Given the description of an element on the screen output the (x, y) to click on. 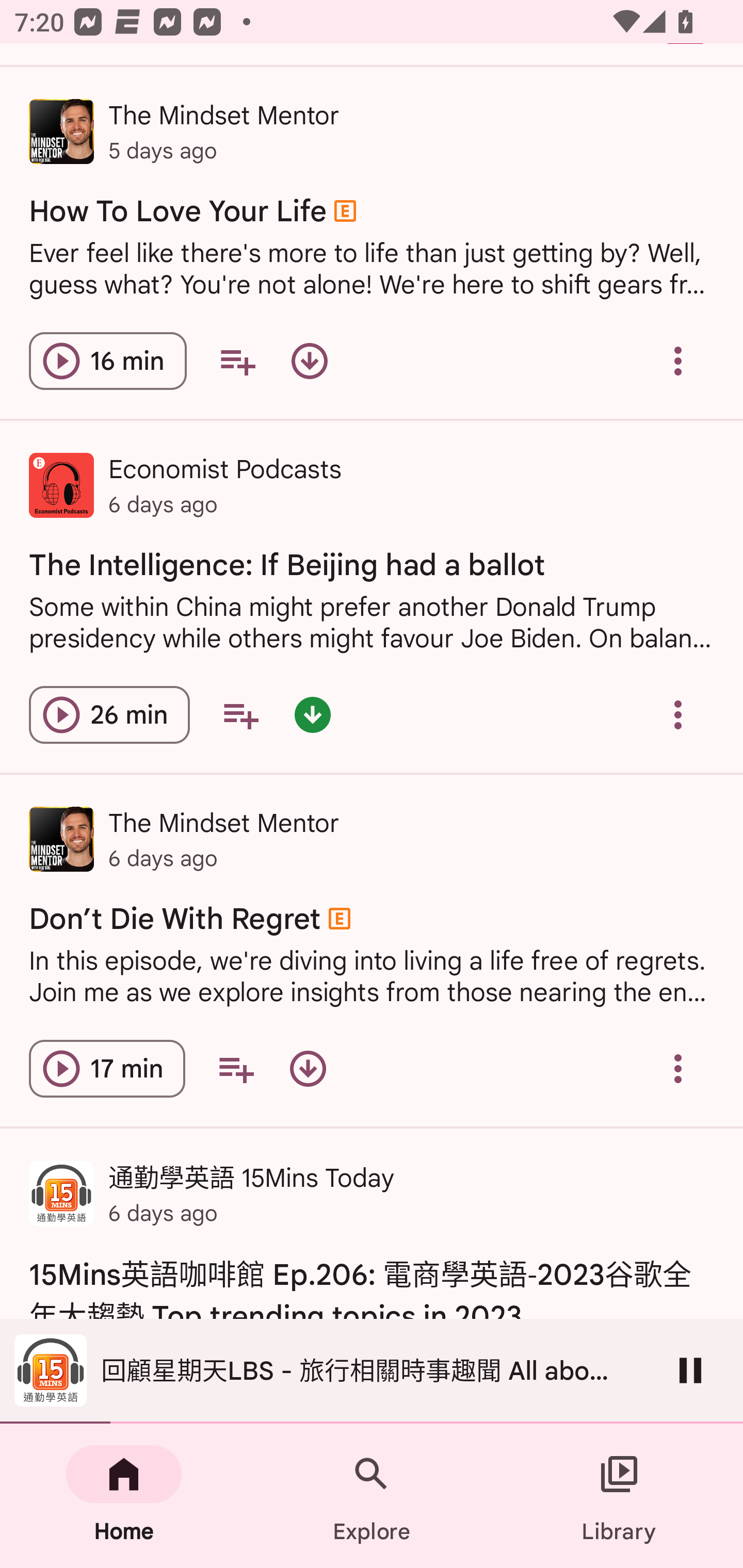
Play episode How To Love Your Life 16 min (107, 361)
Add to your queue (237, 361)
Download episode (309, 361)
Overflow menu (677, 361)
Add to your queue (240, 714)
Episode downloaded - double tap for options (312, 714)
Overflow menu (677, 714)
Play episode Don’t Die With Regret 17 min (106, 1068)
Add to your queue (235, 1068)
Download episode (307, 1068)
Overflow menu (677, 1068)
Pause (690, 1370)
Explore (371, 1495)
Library (619, 1495)
